Given the description of an element on the screen output the (x, y) to click on. 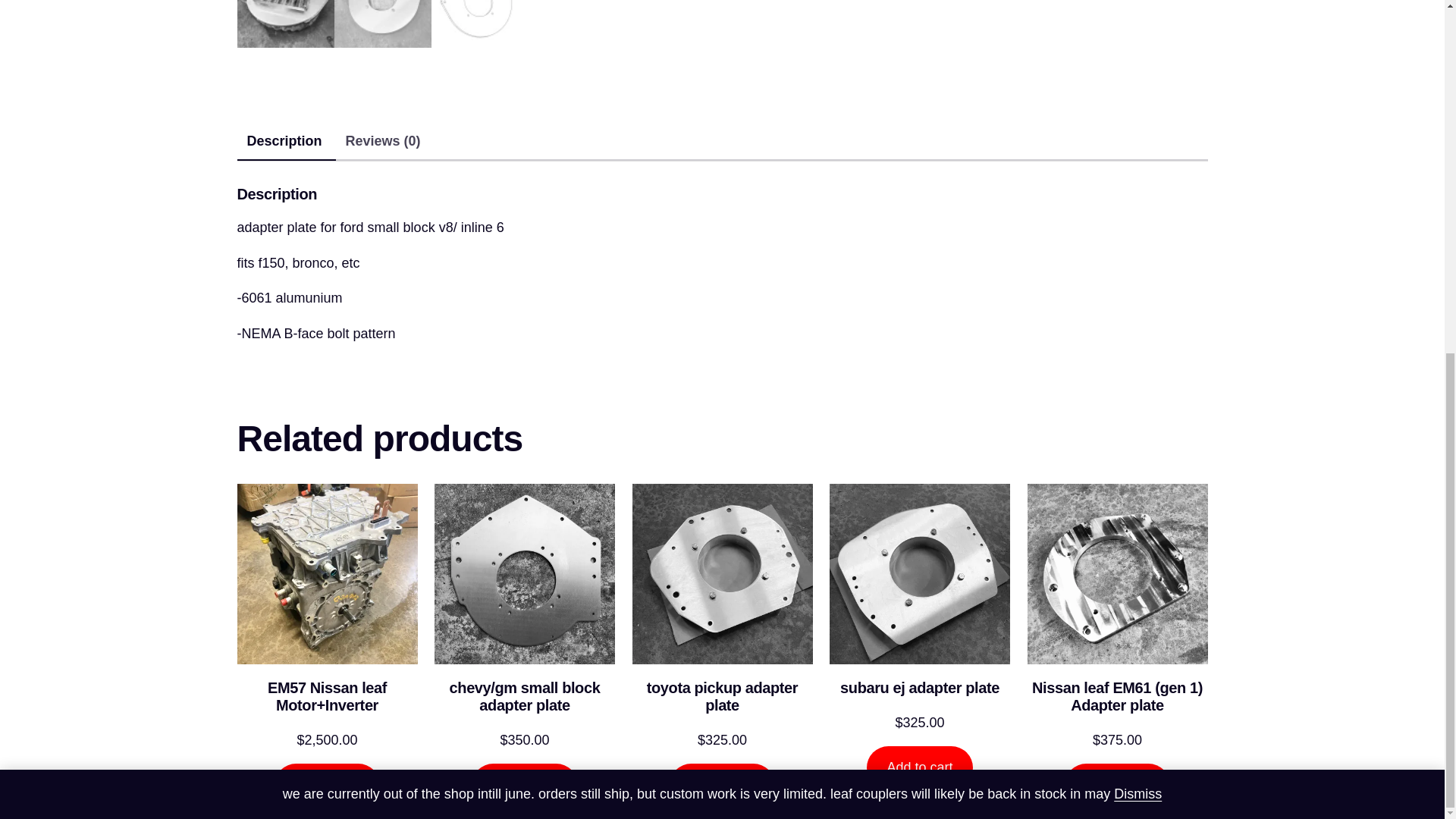
Add to cart (1117, 784)
Add to cart (721, 784)
Add to cart (919, 767)
Add to cart (327, 784)
toyota pickup adapter plate (721, 696)
Add to cart (523, 784)
Dismiss (1137, 177)
Description (284, 140)
subaru ej adapter plate (919, 687)
